Given the description of an element on the screen output the (x, y) to click on. 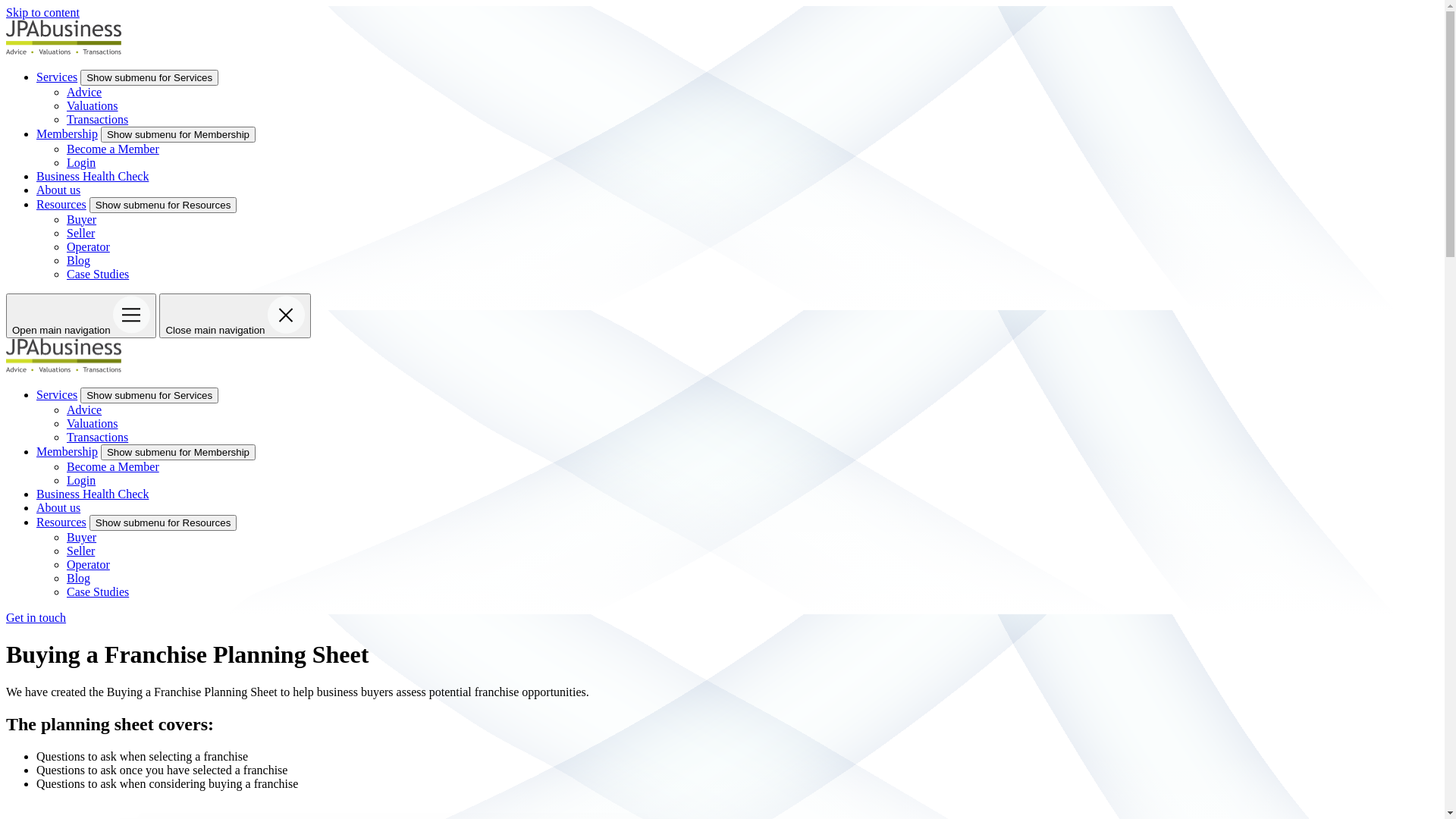
Seller Element type: text (80, 231)
Buyer Element type: text (81, 536)
Skip to content Element type: text (42, 12)
About us Element type: text (58, 507)
Business Health Check Element type: text (92, 493)
Services Element type: text (56, 394)
Seller Element type: text (80, 550)
Close main navigation Element type: text (234, 315)
Blog Element type: text (78, 259)
Open main navigation Element type: text (81, 314)
About us Element type: text (58, 189)
Valuations Element type: text (92, 104)
Get in touch Element type: text (35, 617)
Transactions Element type: text (97, 118)
Become a Member Element type: text (112, 466)
Show submenu for Resources Element type: text (163, 205)
Show submenu for Services Element type: text (149, 77)
Business Health Check Element type: text (92, 175)
Show submenu for Services Element type: text (149, 395)
Operator Element type: text (87, 245)
Blog Element type: text (78, 577)
Show submenu for Membership Element type: text (177, 452)
Become a Member Element type: text (112, 148)
Case Studies Element type: text (97, 272)
Transactions Element type: text (97, 436)
Resources Element type: text (61, 521)
Case Studies Element type: text (97, 591)
Advice Element type: text (83, 90)
Resources Element type: text (61, 203)
Operator Element type: text (87, 564)
Advice Element type: text (83, 409)
Valuations Element type: text (92, 423)
Buyer Element type: text (81, 218)
Show submenu for Resources Element type: text (163, 522)
Services Element type: text (56, 75)
Login Element type: text (80, 479)
Membership Element type: text (66, 451)
Membership Element type: text (66, 133)
Show submenu for Membership Element type: text (177, 133)
Login Element type: text (80, 162)
